Given the description of an element on the screen output the (x, y) to click on. 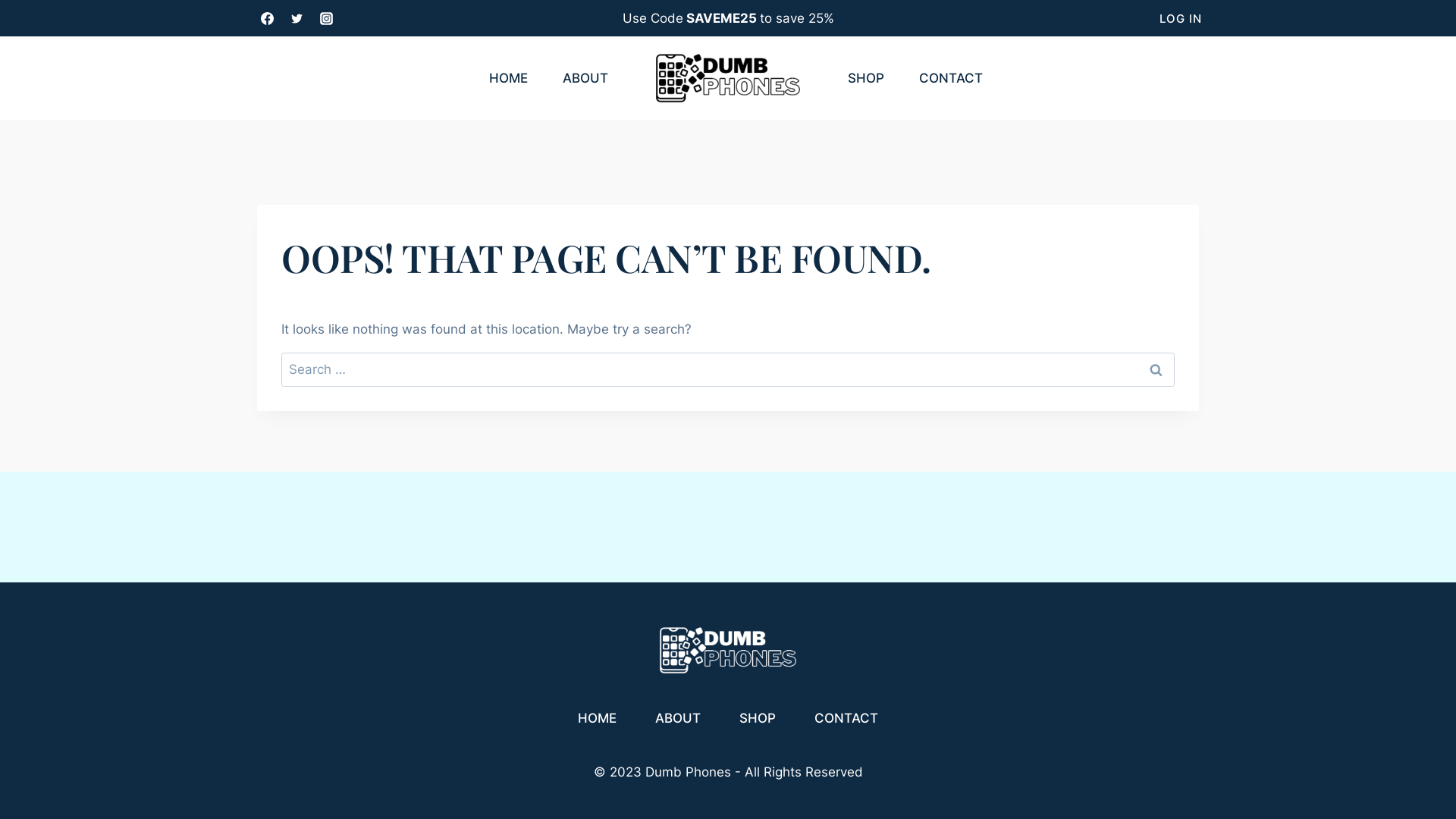
LOG IN Element type: text (1180, 18)
ABOUT Element type: text (585, 77)
CONTACT Element type: text (845, 718)
CONTACT Element type: text (950, 77)
SHOP Element type: text (865, 77)
Search Element type: text (1155, 368)
HOME Element type: text (596, 718)
SHOP Element type: text (757, 718)
HOME Element type: text (508, 77)
ABOUT Element type: text (677, 718)
